Given the description of an element on the screen output the (x, y) to click on. 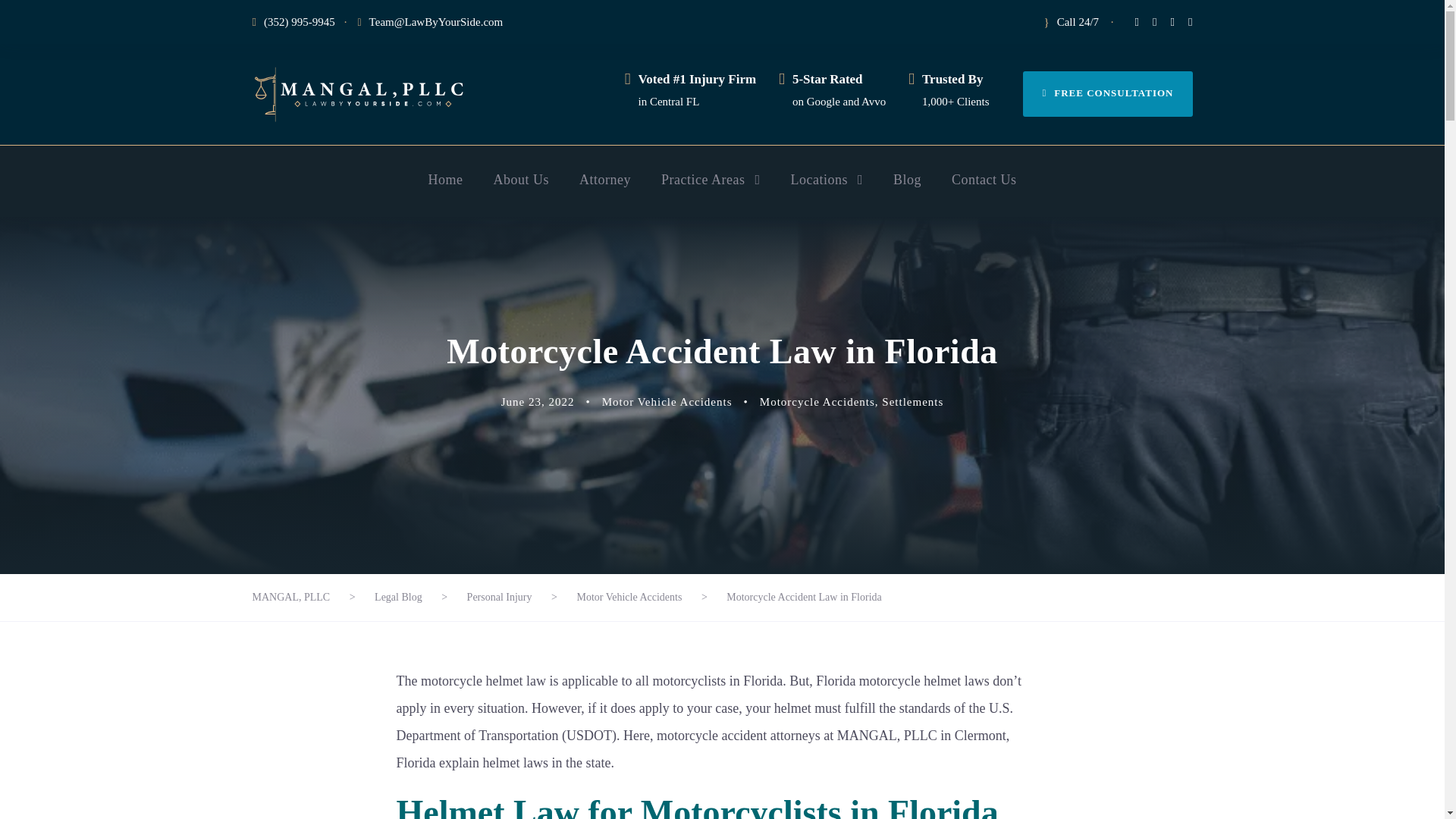
MANGAL, PLLC (357, 94)
Go to Motorcycle Accident Law in Florida. (804, 596)
Go to the Motor Vehicle Accidents category archives. (628, 596)
Practice Areas (710, 192)
Go to MANGAL, PLLC. (290, 596)
FREE CONSULTATION (1107, 94)
Go to Legal Blog. (398, 596)
Go to the Personal Injury category archives. (499, 596)
About Us (520, 192)
Attorney (604, 192)
